Given the description of an element on the screen output the (x, y) to click on. 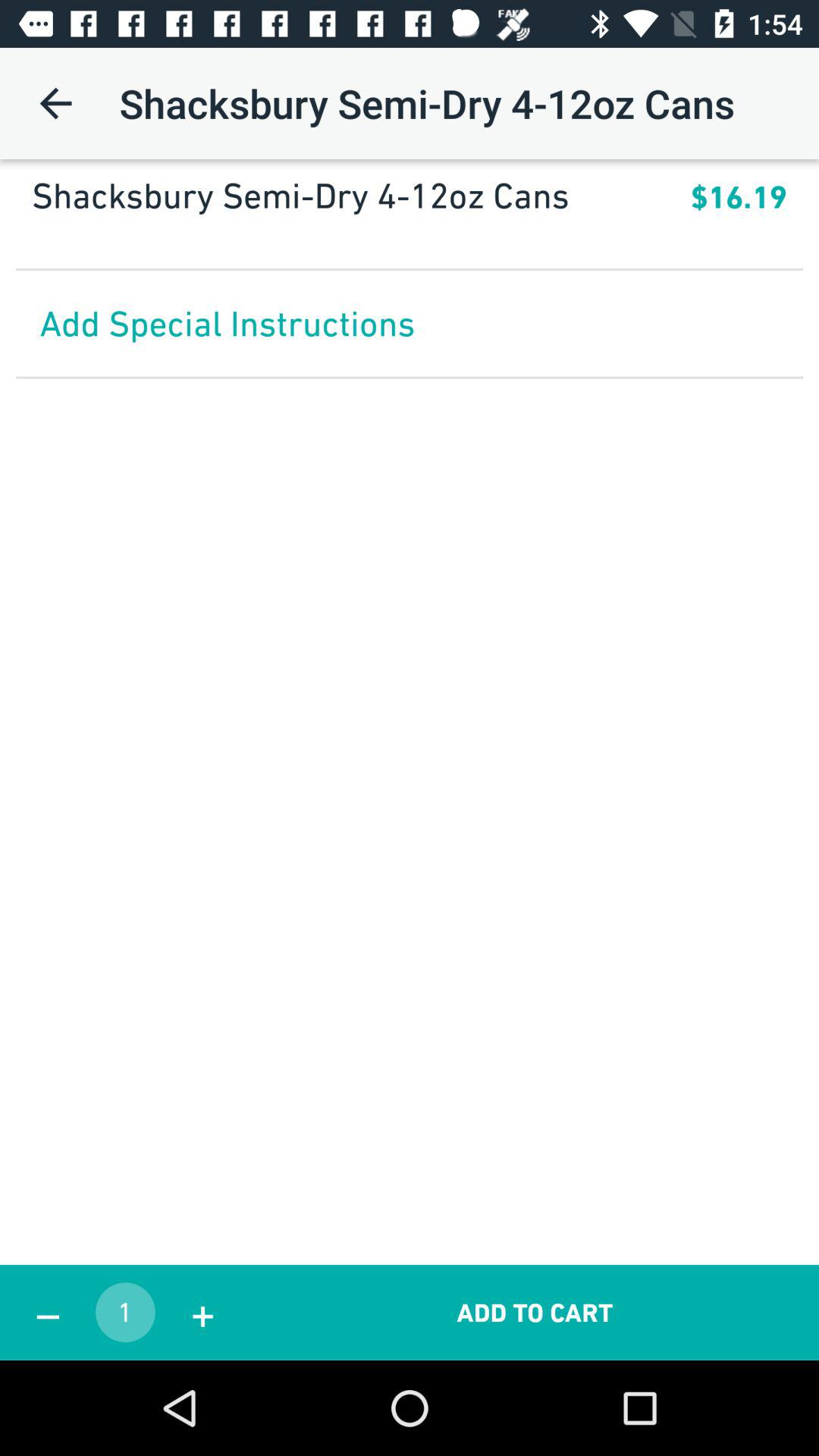
choose button to the right of + (534, 1312)
